Given the description of an element on the screen output the (x, y) to click on. 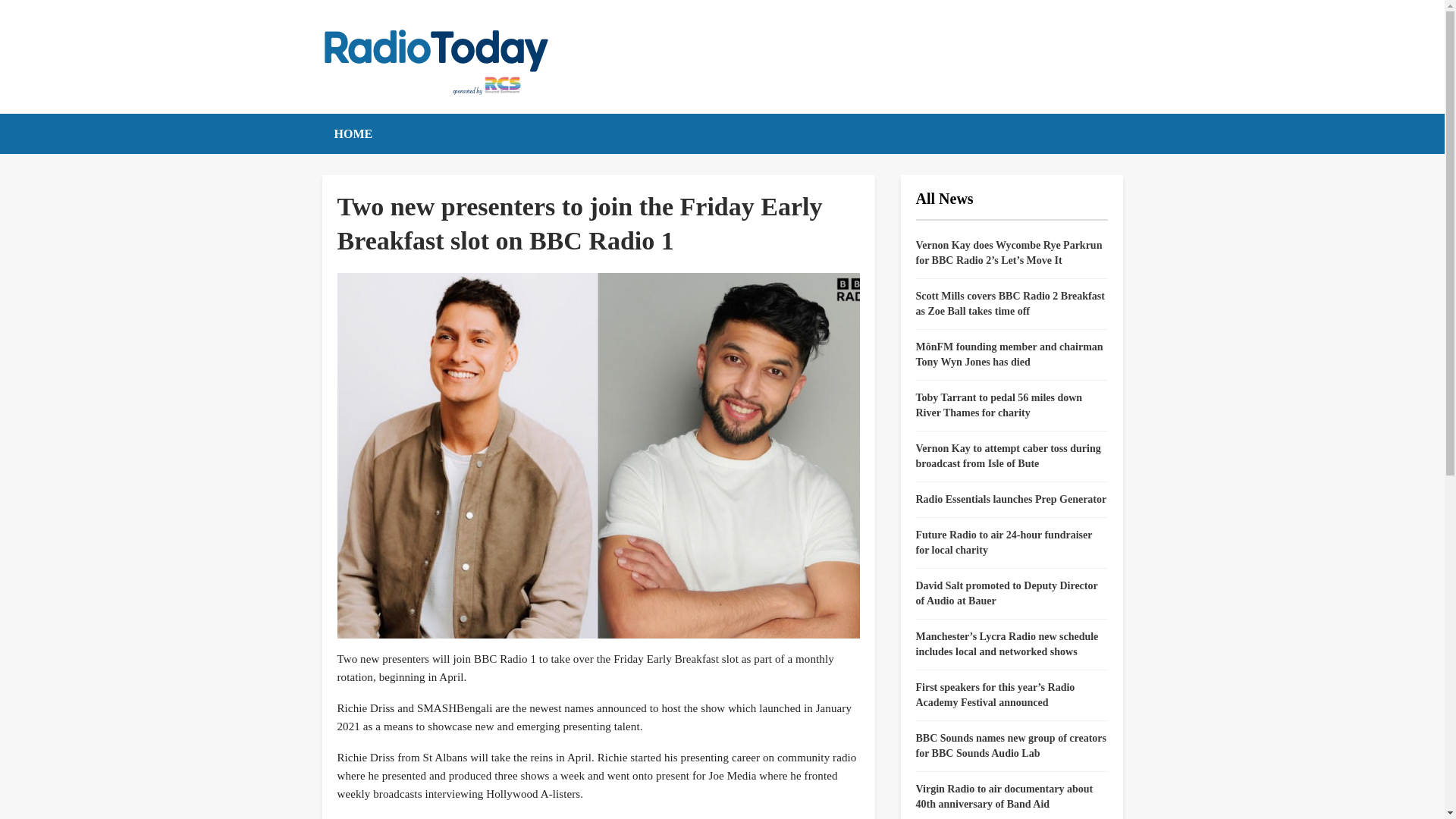
David Salt promoted to Deputy Director of Audio at Bauer (1006, 592)
Toby Tarrant to pedal 56 miles down River Thames for charity (999, 405)
Radio Essentials launches Prep Generator (1010, 499)
HOME (352, 133)
Future Radio to air 24-hour fundraiser for local charity (1004, 542)
